Given the description of an element on the screen output the (x, y) to click on. 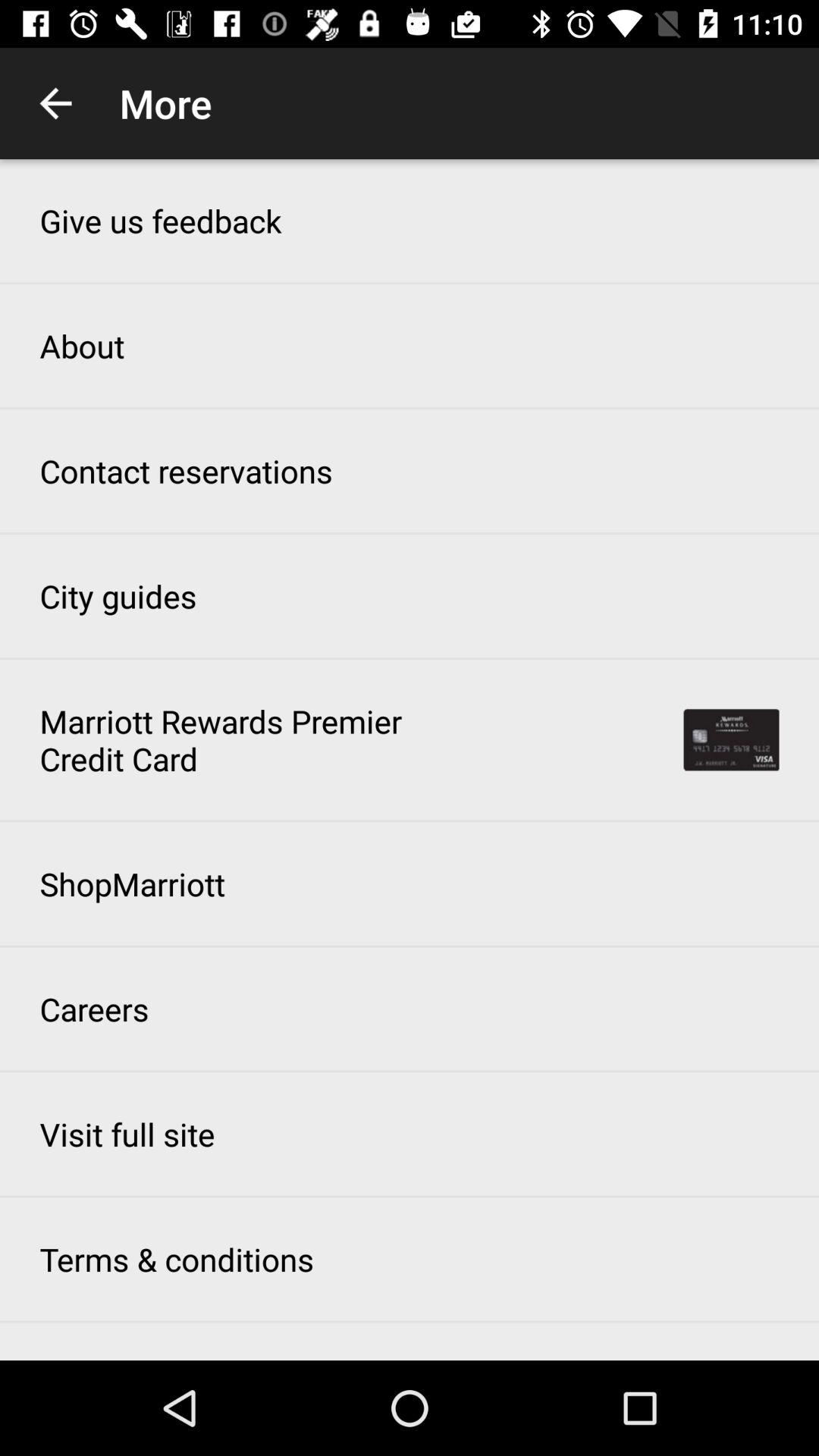
open item above the city guides (185, 470)
